Given the description of an element on the screen output the (x, y) to click on. 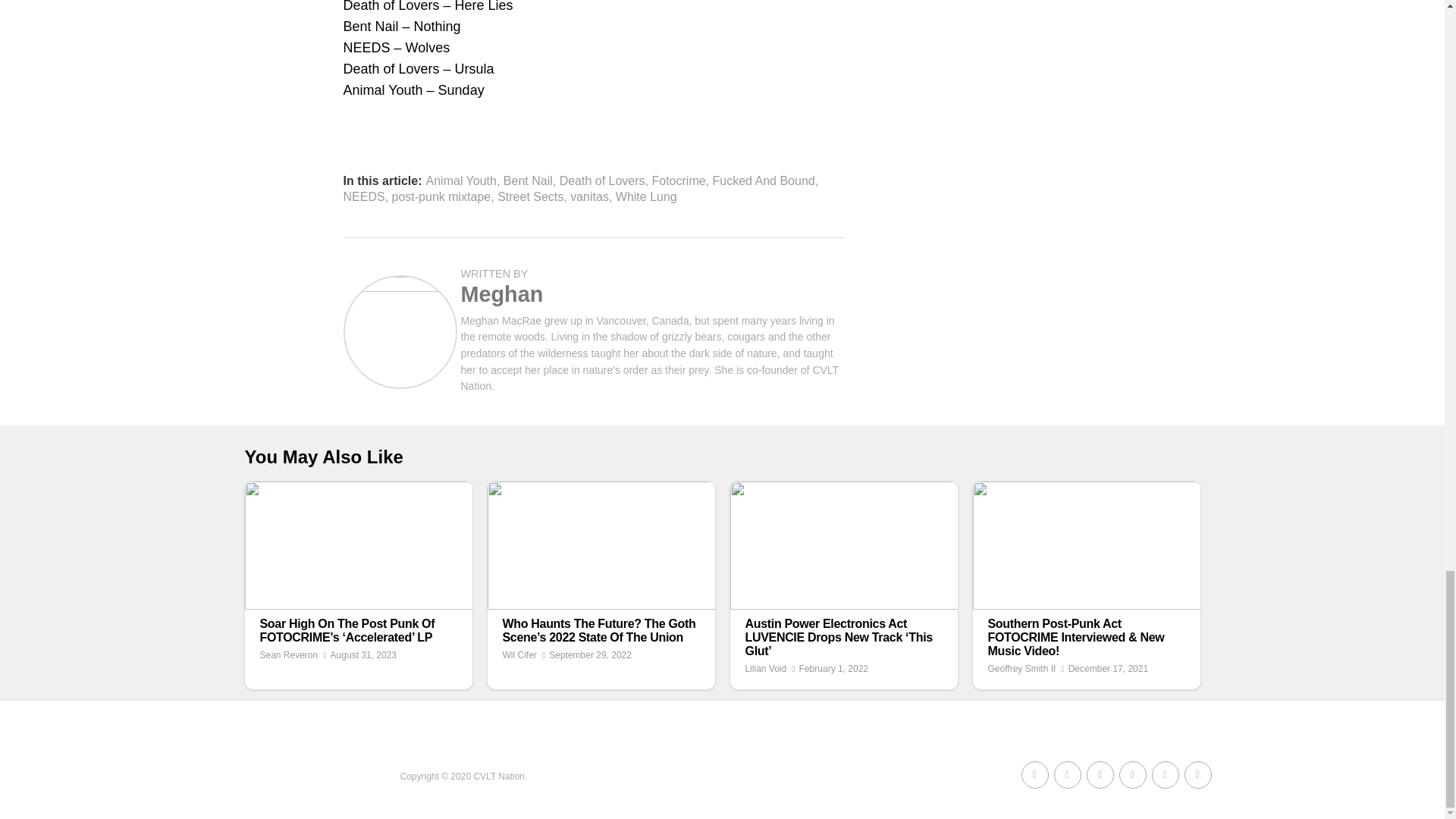
Posts by Meghan (502, 293)
Posts by Sean Reveron (288, 655)
Posts by Wil Cifer (518, 655)
